Given the description of an element on the screen output the (x, y) to click on. 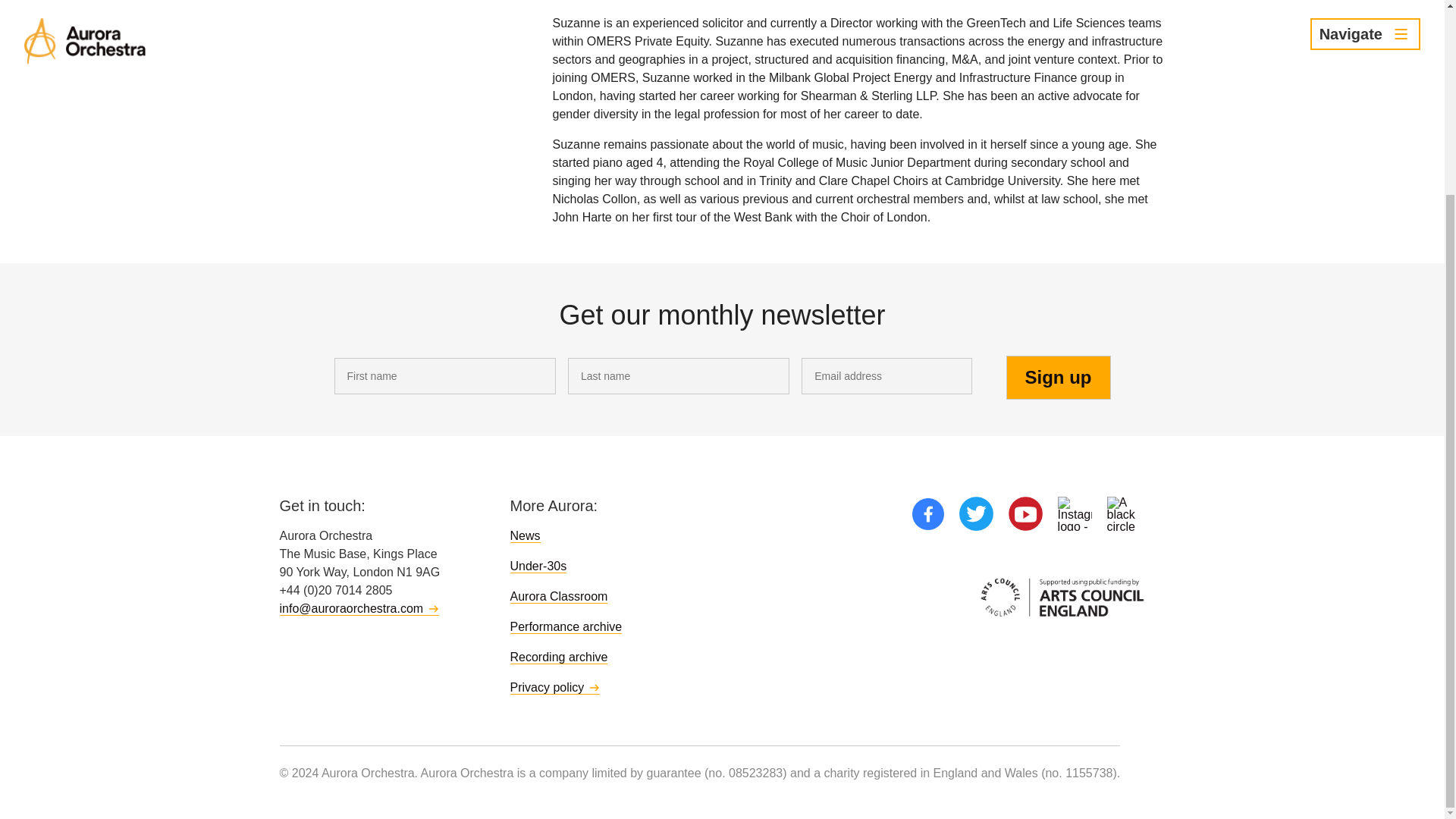
News (524, 535)
Sign up (1058, 377)
Under-30s (537, 566)
Aurora Classroom (558, 596)
Sign up (1058, 377)
Privacy policy (554, 687)
Recording archive (558, 657)
Performance archive (565, 626)
